Given the description of an element on the screen output the (x, y) to click on. 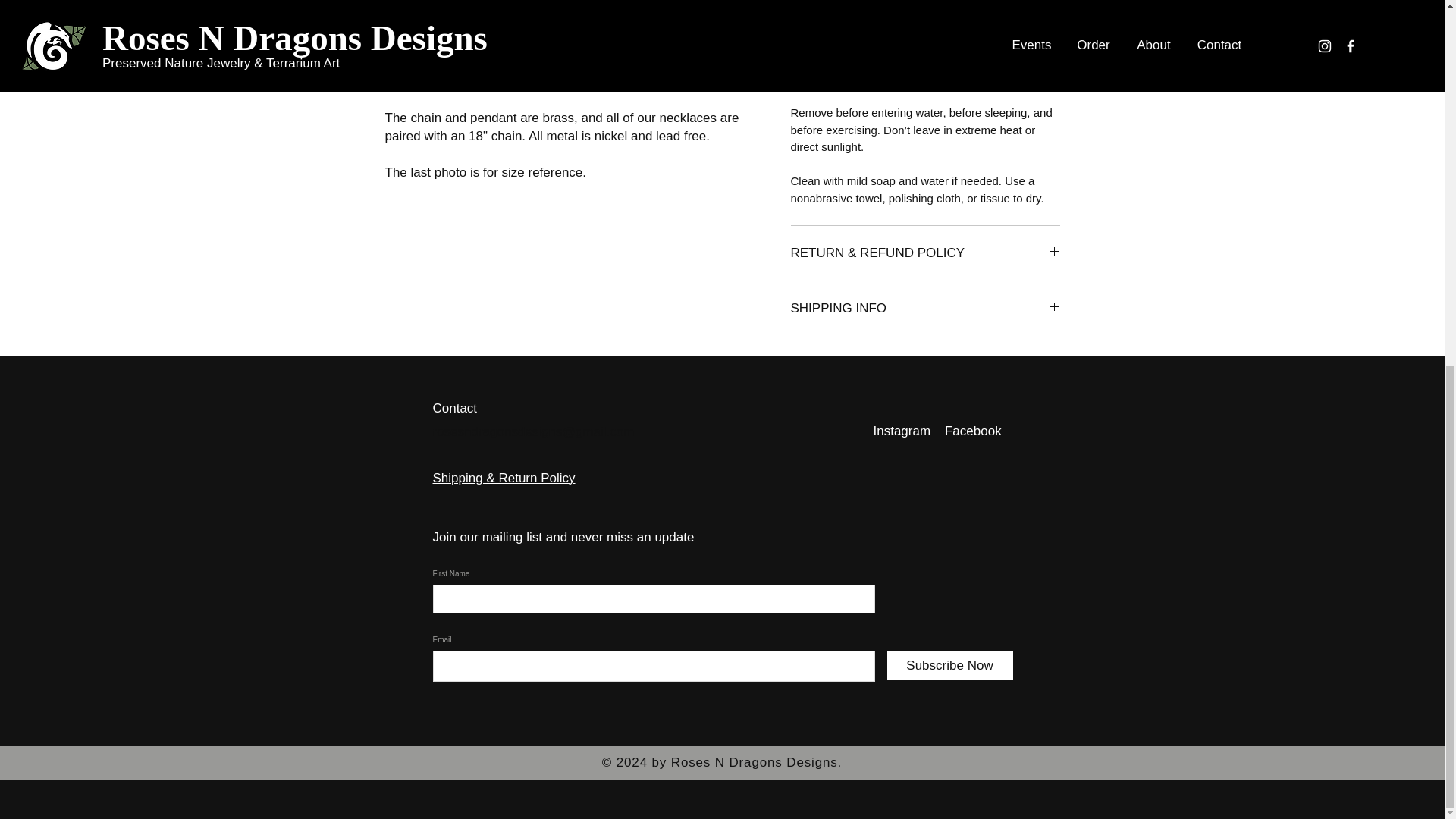
SHIPPING INFO (924, 308)
Subscribe Now (949, 665)
Contact (454, 408)
Facebook (972, 431)
Instagram     (908, 431)
Join our mailing list and never miss an update (563, 536)
